Given the description of an element on the screen output the (x, y) to click on. 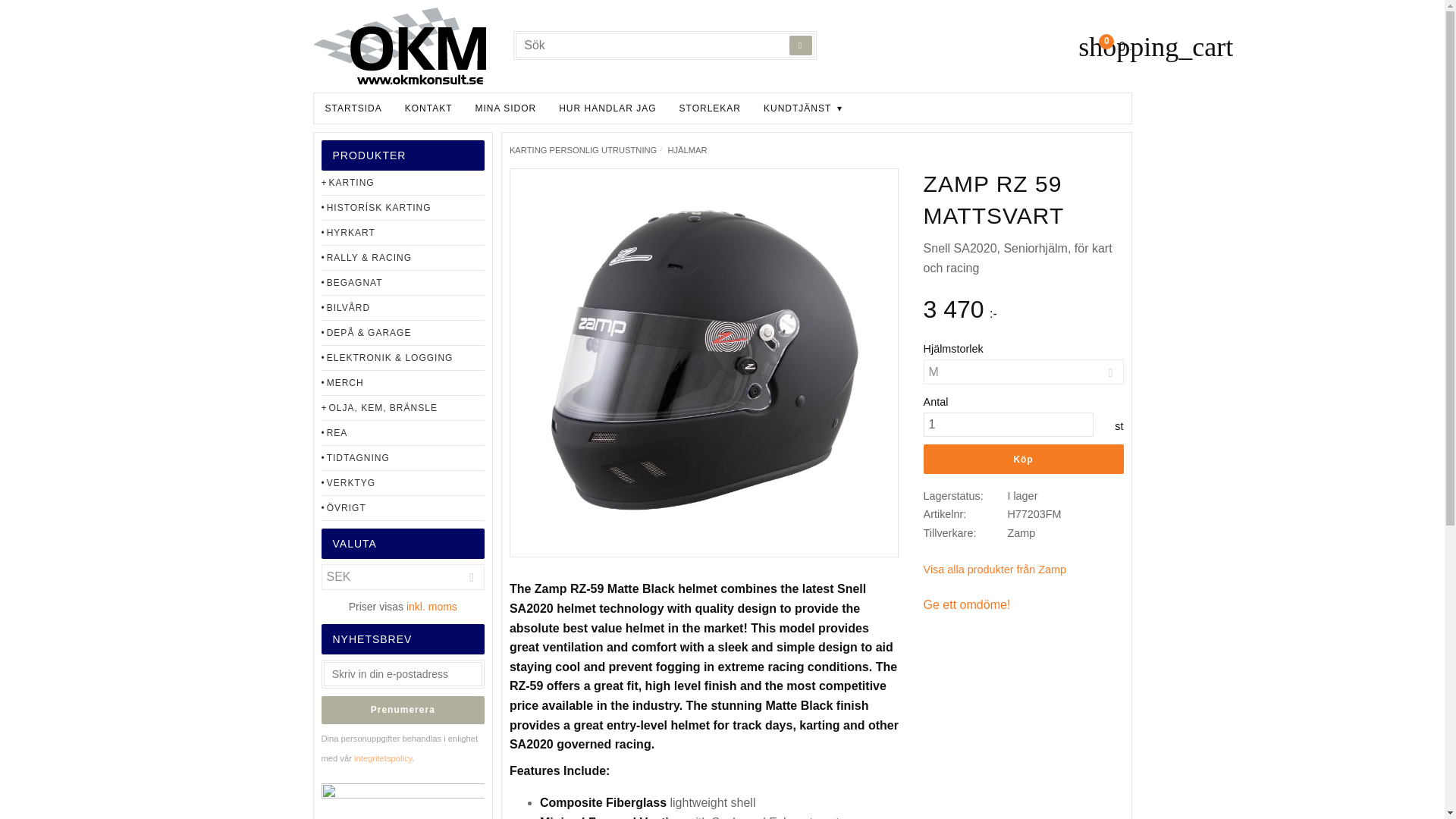
Startsida (353, 108)
MERCH (402, 383)
Storlekar (710, 108)
0 :- (1104, 47)
Hyrkart (402, 232)
Kontakt (428, 108)
Hur handlar jag (606, 108)
Karting (402, 182)
STARTSIDA (353, 108)
HYRKART (402, 232)
BEGAGNAT (402, 283)
REA (402, 432)
KARTING (402, 182)
HUR HANDLAR JAG (606, 108)
Mina sidor (506, 108)
